Given the description of an element on the screen output the (x, y) to click on. 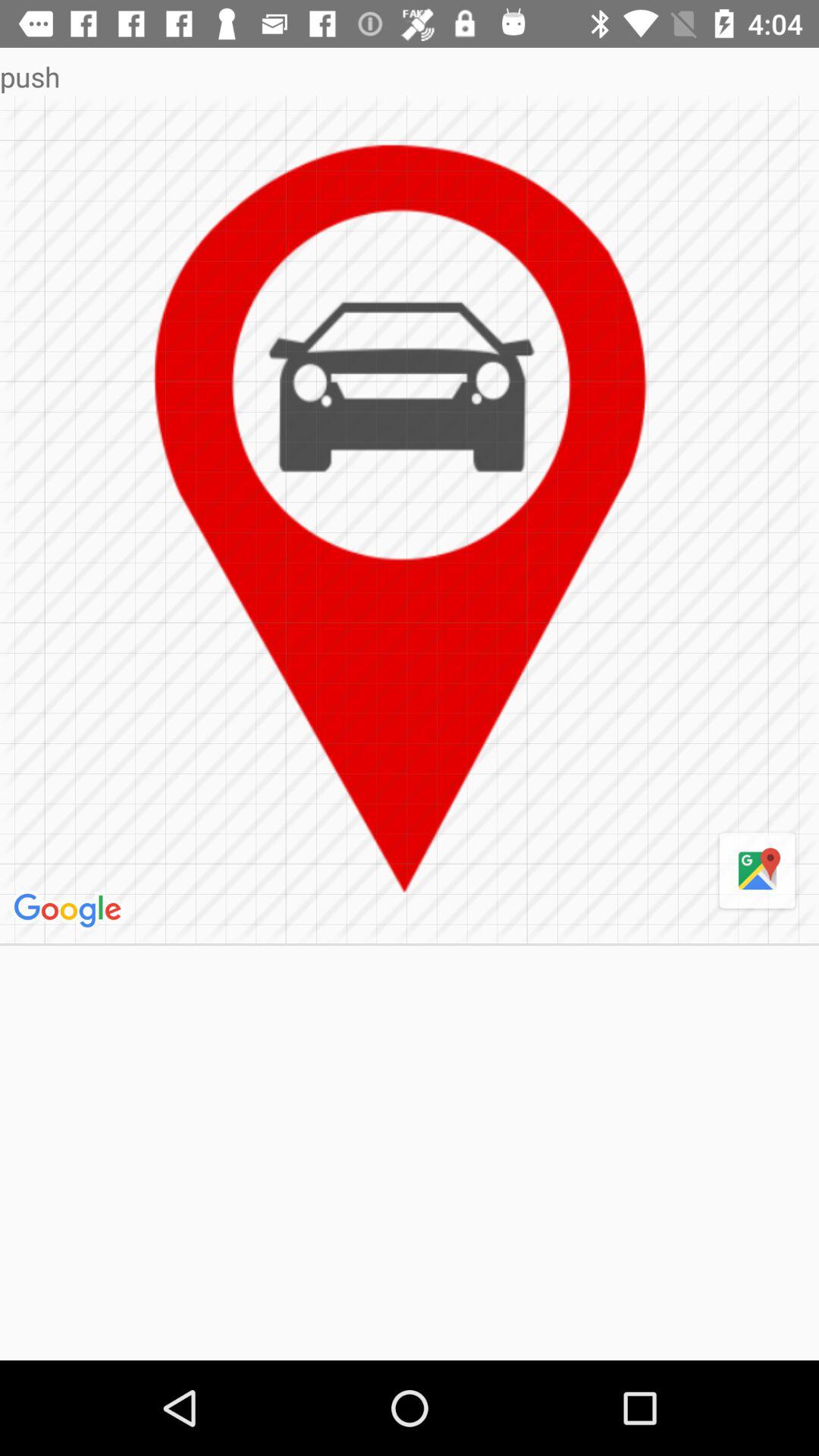
select the icon below push icon (757, 871)
